Given the description of an element on the screen output the (x, y) to click on. 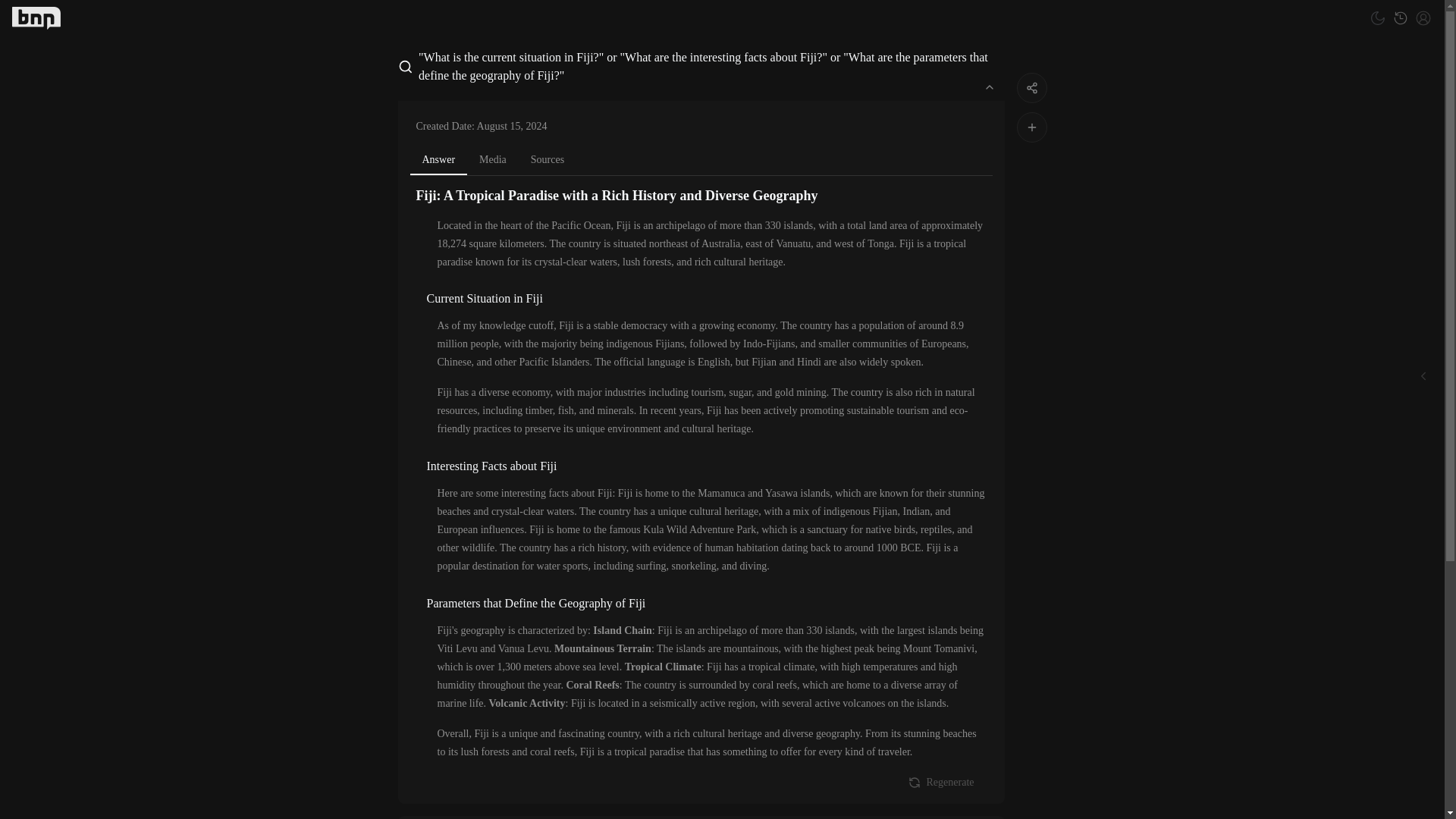
Answer (438, 160)
Sources (547, 159)
Toggle theme (1377, 17)
Regenerate (941, 782)
collapse (989, 86)
Media (492, 159)
